Given the description of an element on the screen output the (x, y) to click on. 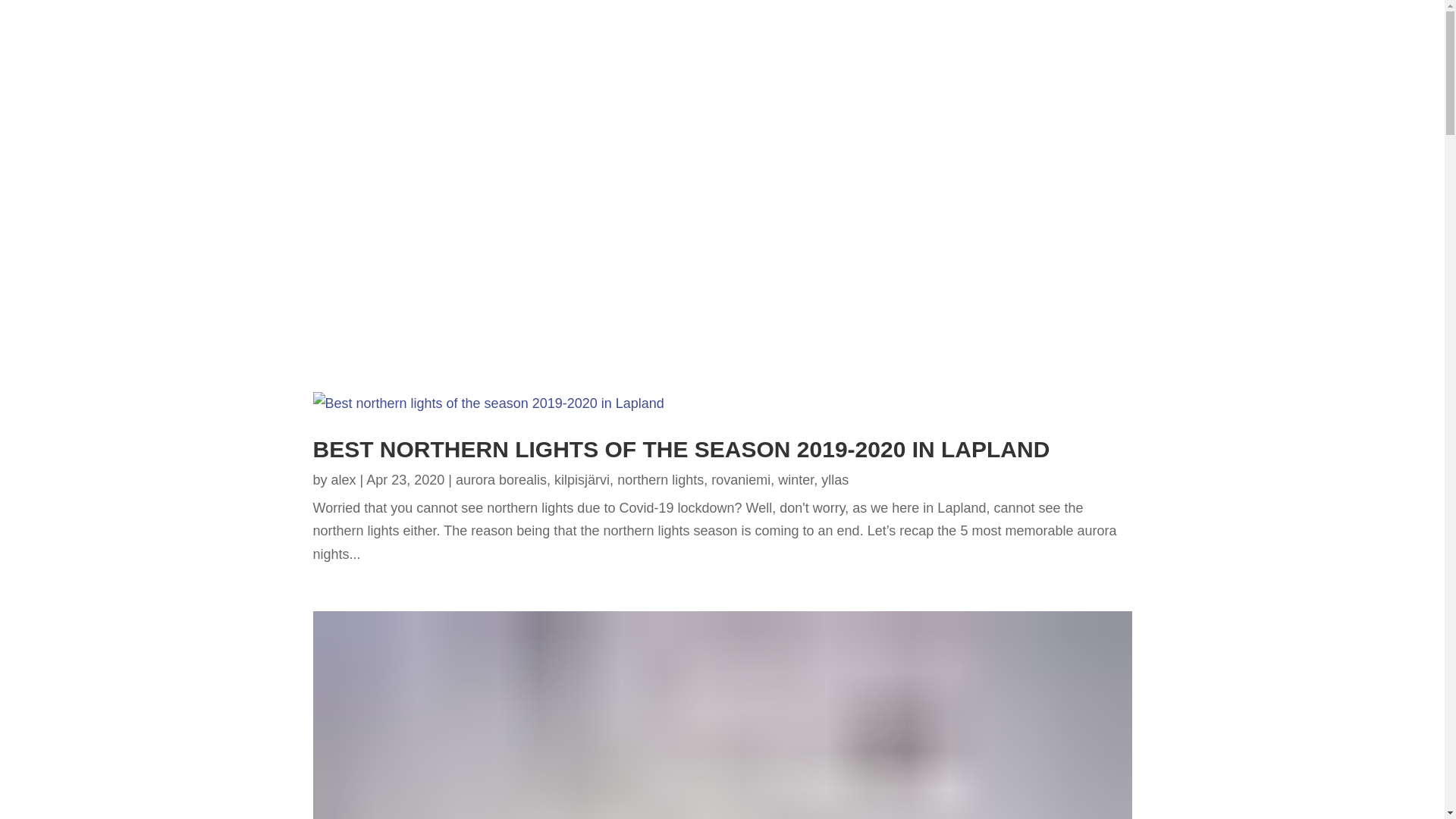
Palvelumme Suomeksi (1372, 14)
winter (795, 479)
Posts by alex (343, 479)
northern lights (660, 479)
BLOG (1376, 65)
aurora borealis (501, 479)
VIDEO PRODUCTION (1286, 65)
BEST NORTHERN LIGHTS OF THE SEASON 2019-2020 IN LAPLAND (681, 448)
Aurora Shop (1280, 14)
alex (343, 479)
HOME (1196, 65)
yllas (834, 479)
rovaniemi (740, 479)
